Given the description of an element on the screen output the (x, y) to click on. 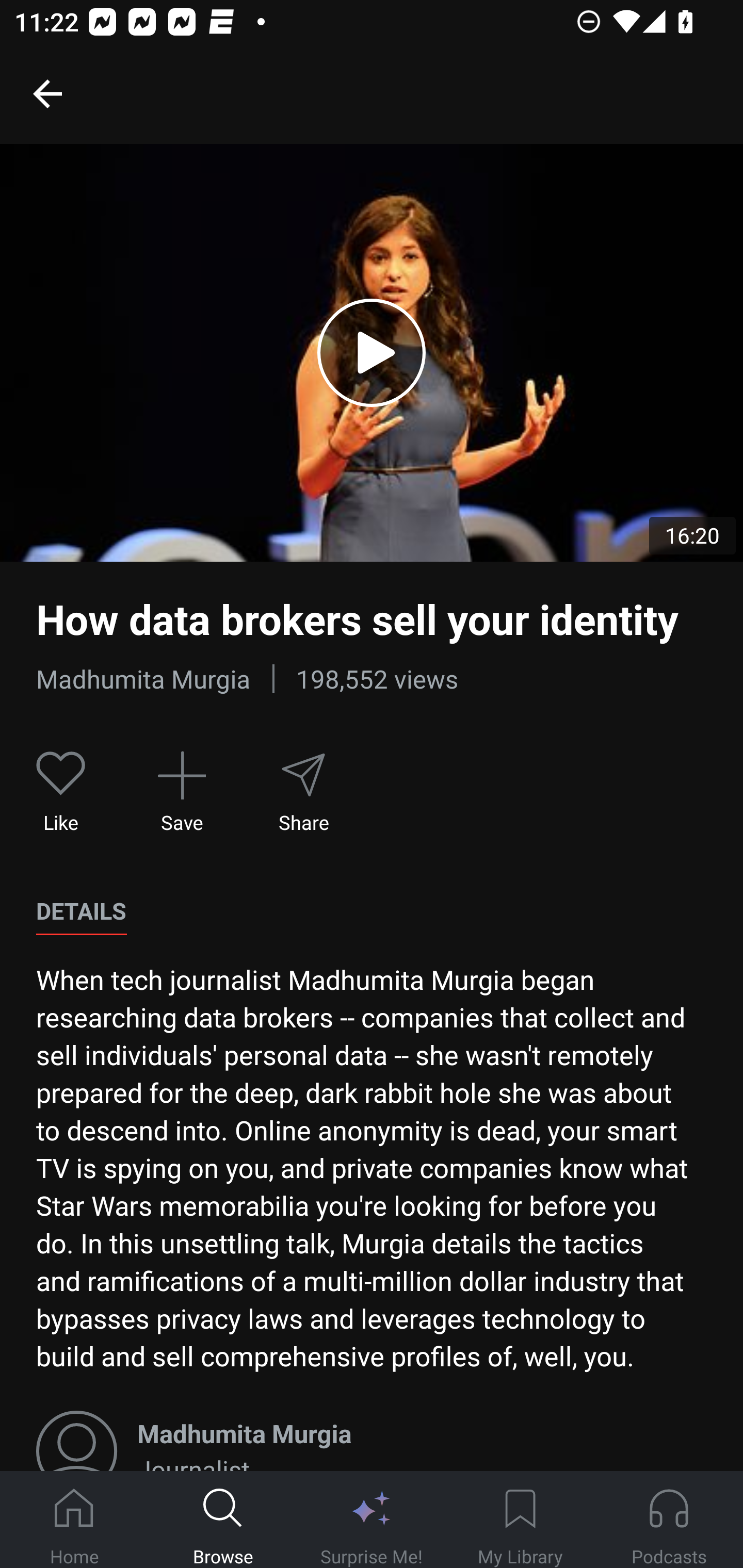
Search, back (47, 92)
Like (60, 793)
Save (181, 793)
Share (302, 793)
DETAILS (80, 911)
Home (74, 1520)
Browse (222, 1520)
Surprise Me! (371, 1520)
My Library (519, 1520)
Podcasts (668, 1520)
